Given the description of an element on the screen output the (x, y) to click on. 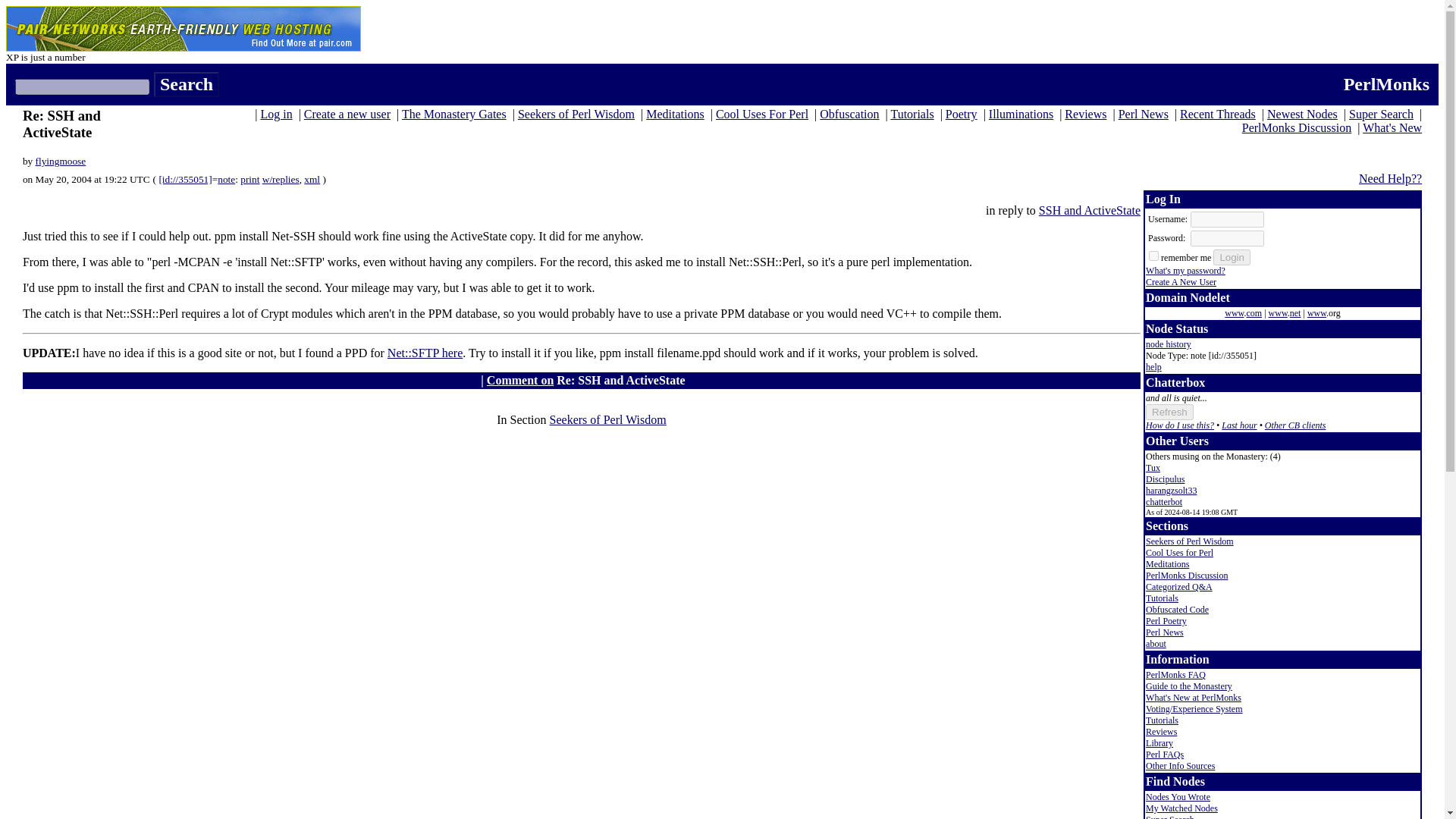
Super Search (1381, 113)
PerlMonks Discussion (1296, 127)
Login (1231, 257)
Illuminations (1020, 113)
note (225, 179)
Discipulus's home node. Level 20. Member of: janitors (1165, 479)
Login (1231, 257)
Seekers of Perl Wisdom (608, 419)
Perl News (1143, 113)
What's my password? (1185, 270)
